Given the description of an element on the screen output the (x, y) to click on. 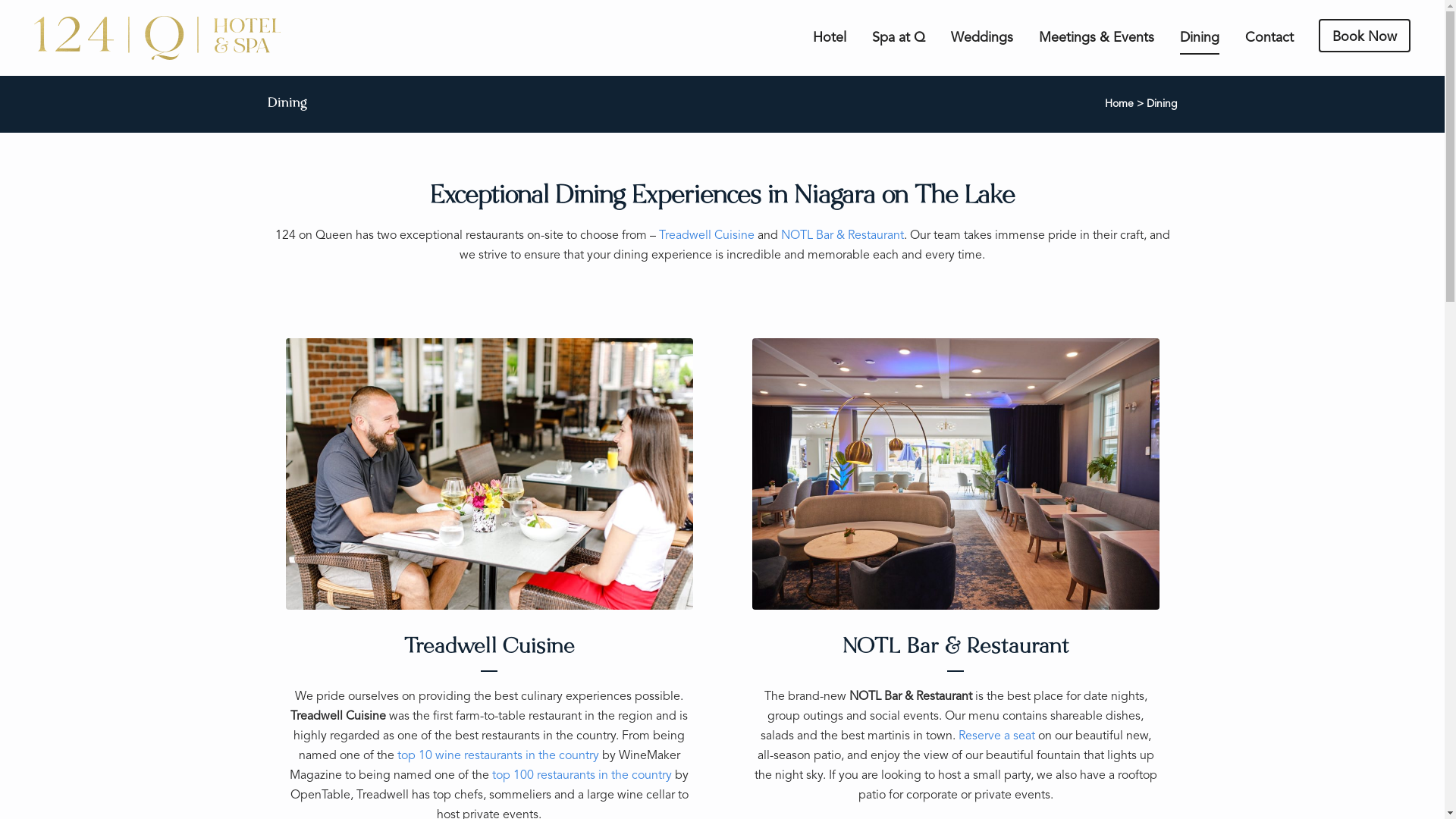
Hotel Element type: text (829, 37)
Dining Element type: text (1199, 37)
treadwell-cuisine-patio Element type: hover (488, 473)
top 10 wine restaurants in the country Element type: text (498, 755)
Contact Element type: text (1269, 37)
Home Element type: text (1118, 103)
Meetings & Events Element type: text (1096, 37)
Book Now Element type: text (1364, 35)
Reserve a seat Element type: text (996, 736)
top 100 restaurants in the country Element type: text (581, 775)
Spa at Q Element type: text (898, 37)
NOTL Bar & Restaurant Element type: text (842, 235)
notl-bar-and-restaurant-interior-8 Element type: hover (955, 473)
Treadwell Cuisine Element type: text (705, 235)
Weddings Element type: text (982, 37)
